Given the description of an element on the screen output the (x, y) to click on. 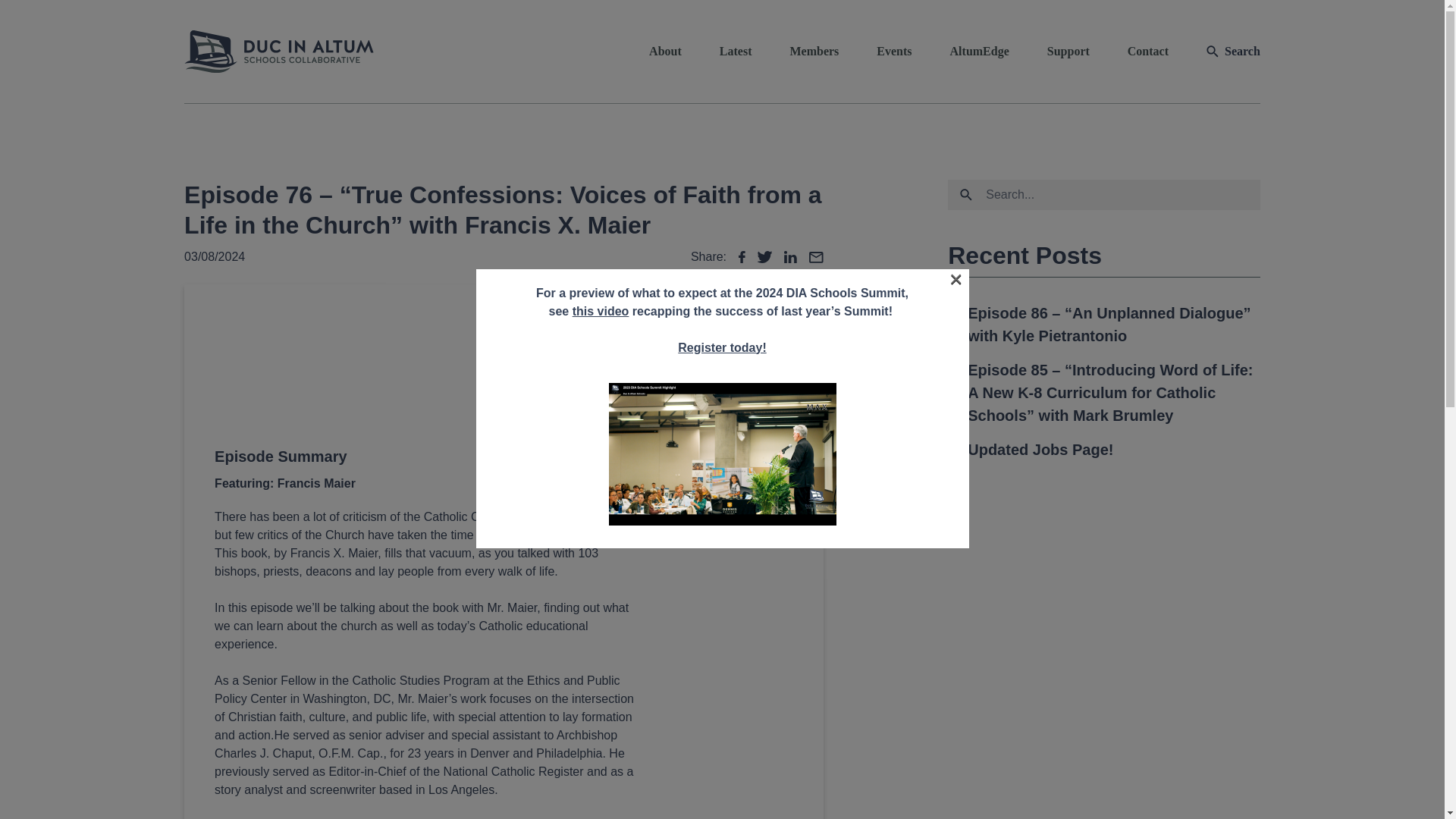
Search (1233, 51)
Events (893, 51)
Support (1067, 51)
AltumEdge (979, 51)
Search (93, 92)
Latest (735, 51)
Search (1069, 87)
Members (813, 51)
Contact (1147, 51)
About (665, 51)
